Given the description of an element on the screen output the (x, y) to click on. 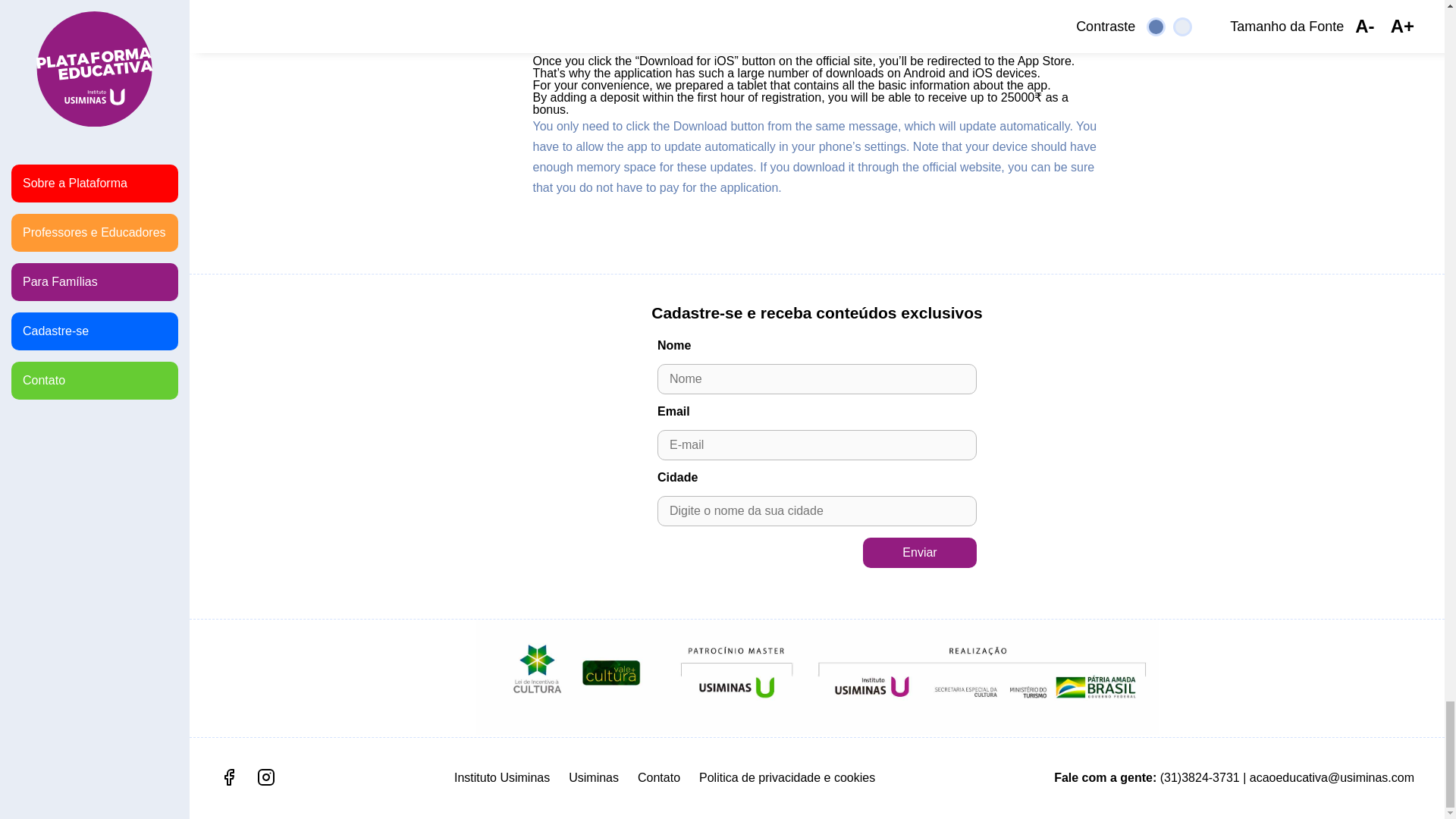
Acessar Contato (658, 777)
Acessar Politica de privacidade e cookies (786, 777)
Acessar Usiminas (593, 777)
Enviar (919, 552)
Acessar Instituto Usiminas (502, 777)
